Given the description of an element on the screen output the (x, y) to click on. 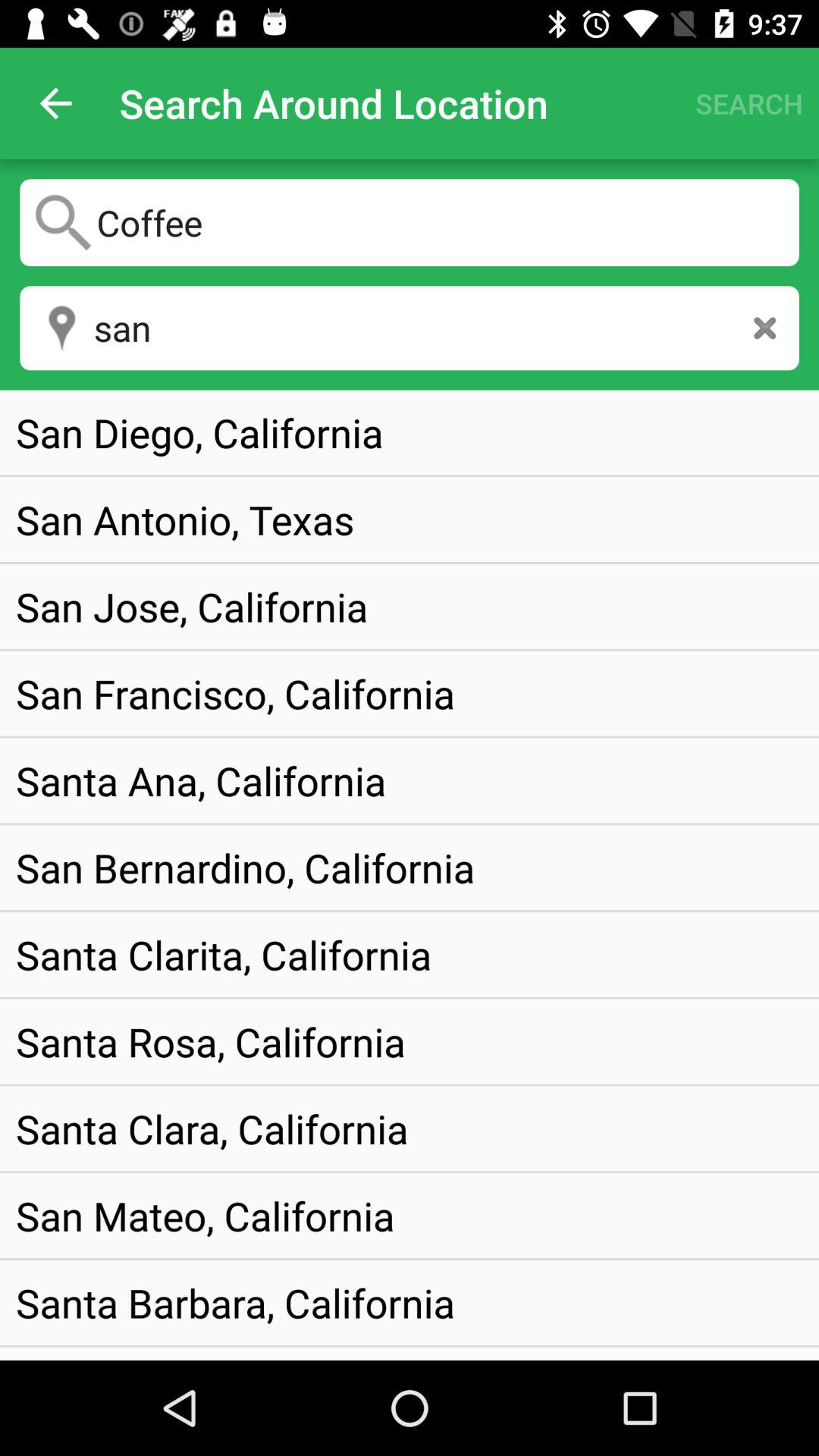
jump until the coffee item (409, 222)
